Given the description of an element on the screen output the (x, y) to click on. 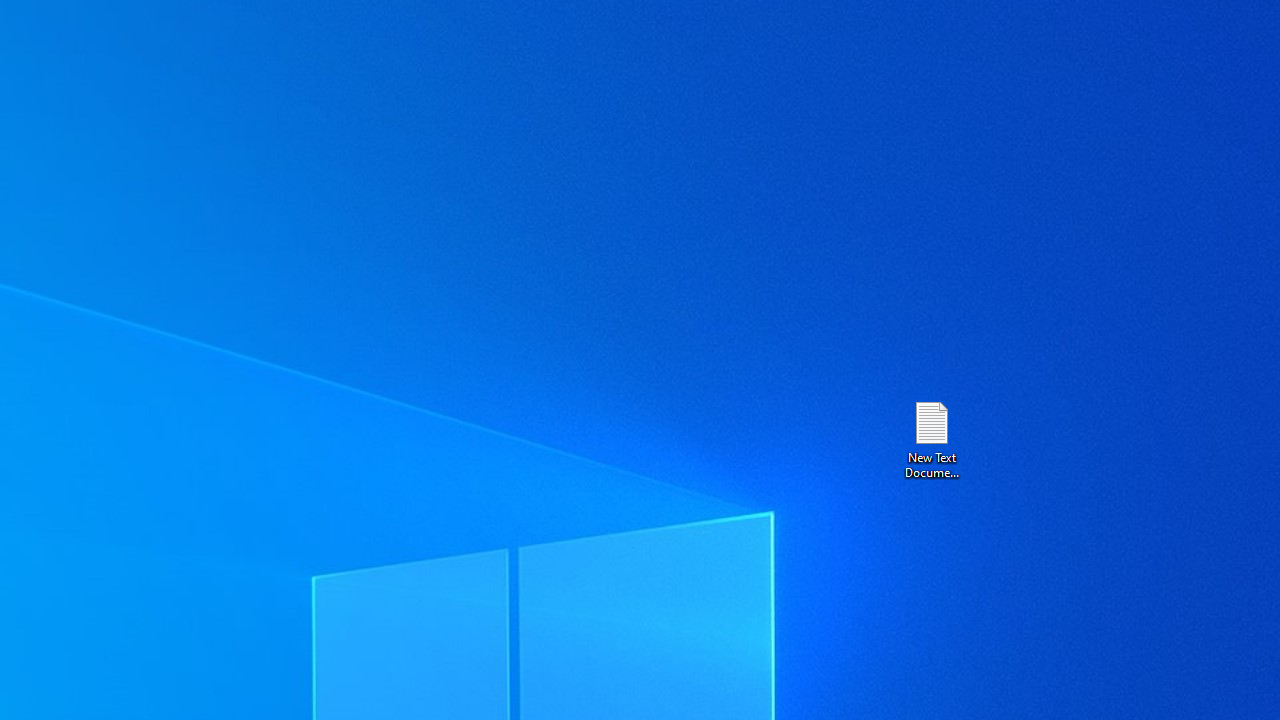
New Text Document (2) (931, 438)
